Given the description of an element on the screen output the (x, y) to click on. 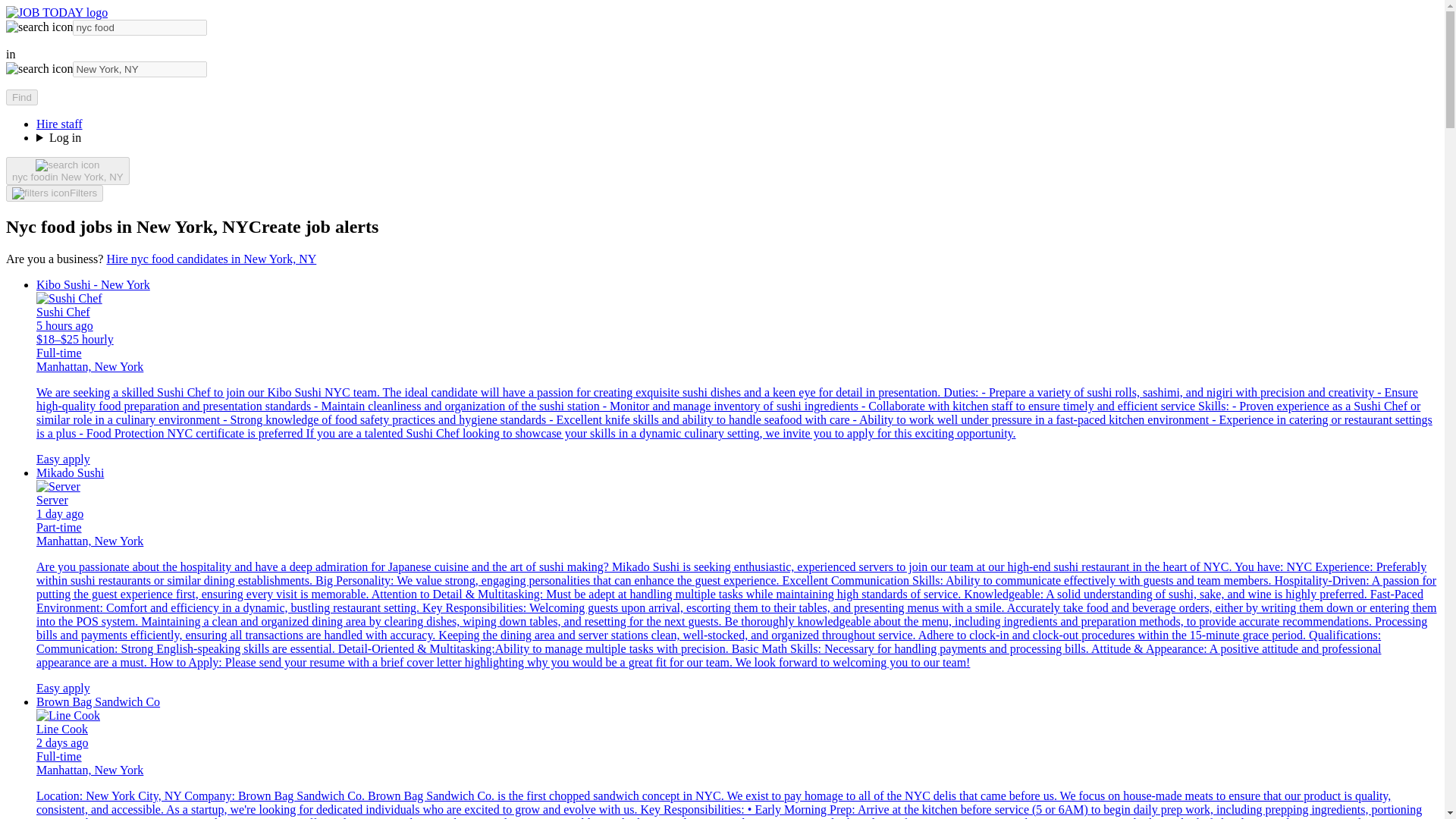
nyc food (139, 27)
nyc foodin New York, NY (67, 171)
Hire nyc food candidates in New York, NY (210, 258)
Find (21, 97)
Hire staff (59, 123)
Job Search and Hiring at JOB TODAY (56, 11)
Filters (54, 193)
nyc food (139, 27)
New York, NY (139, 68)
New York, NY (139, 68)
